Given the description of an element on the screen output the (x, y) to click on. 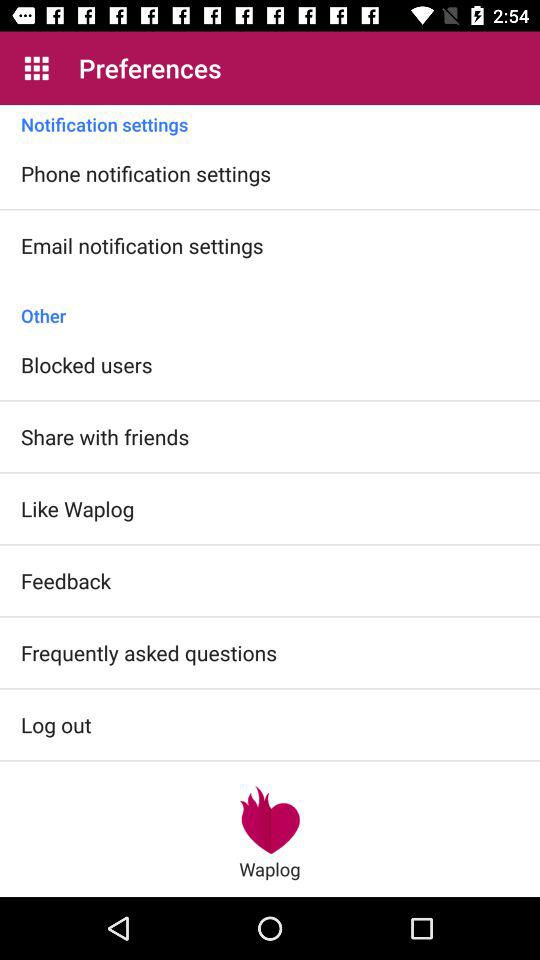
turn on the app next to the preferences app (36, 68)
